Given the description of an element on the screen output the (x, y) to click on. 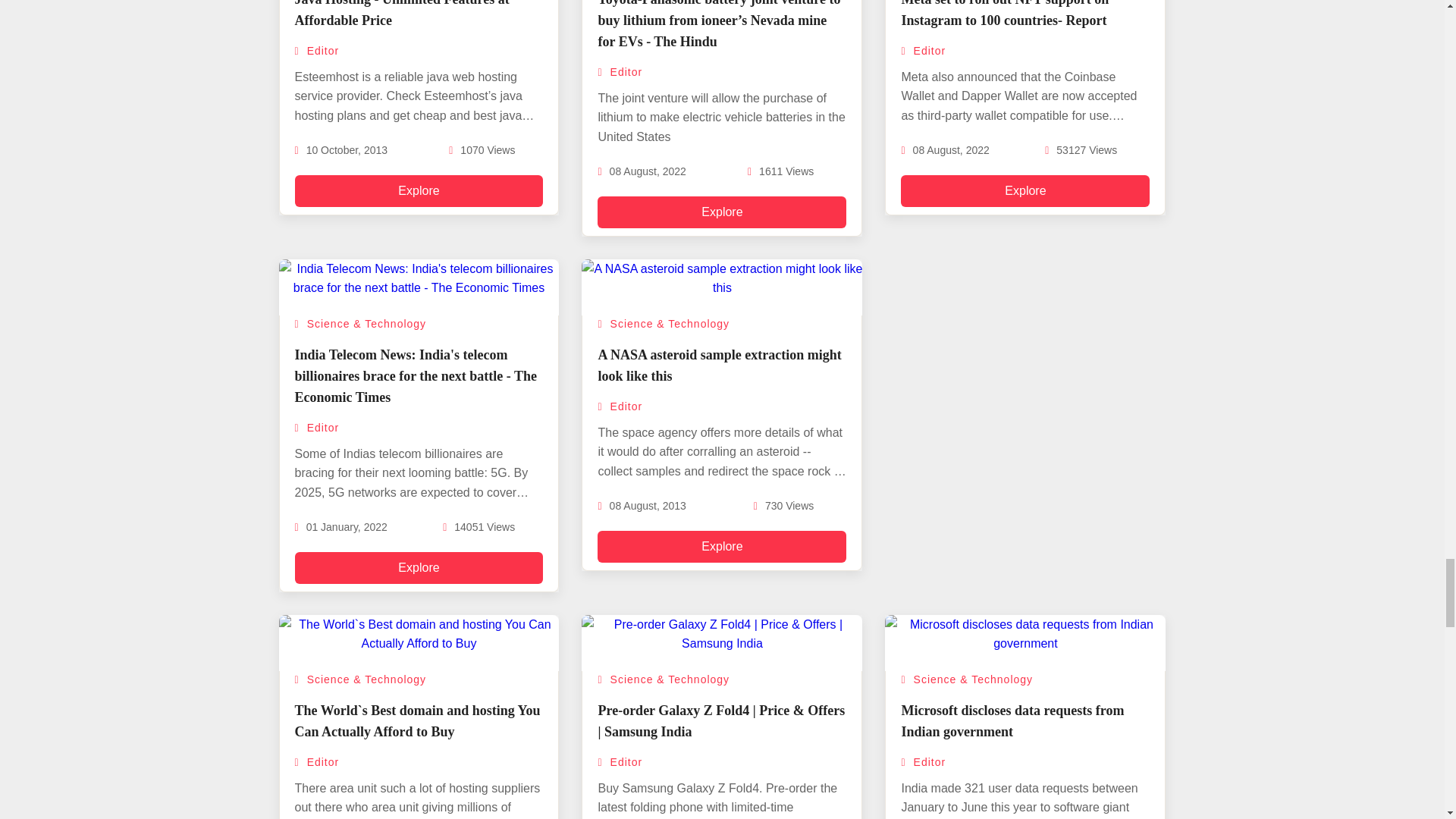
Explore (418, 190)
Java Hosting - Unlimited Features at Affordable Price (401, 13)
Editor (316, 50)
